Given the description of an element on the screen output the (x, y) to click on. 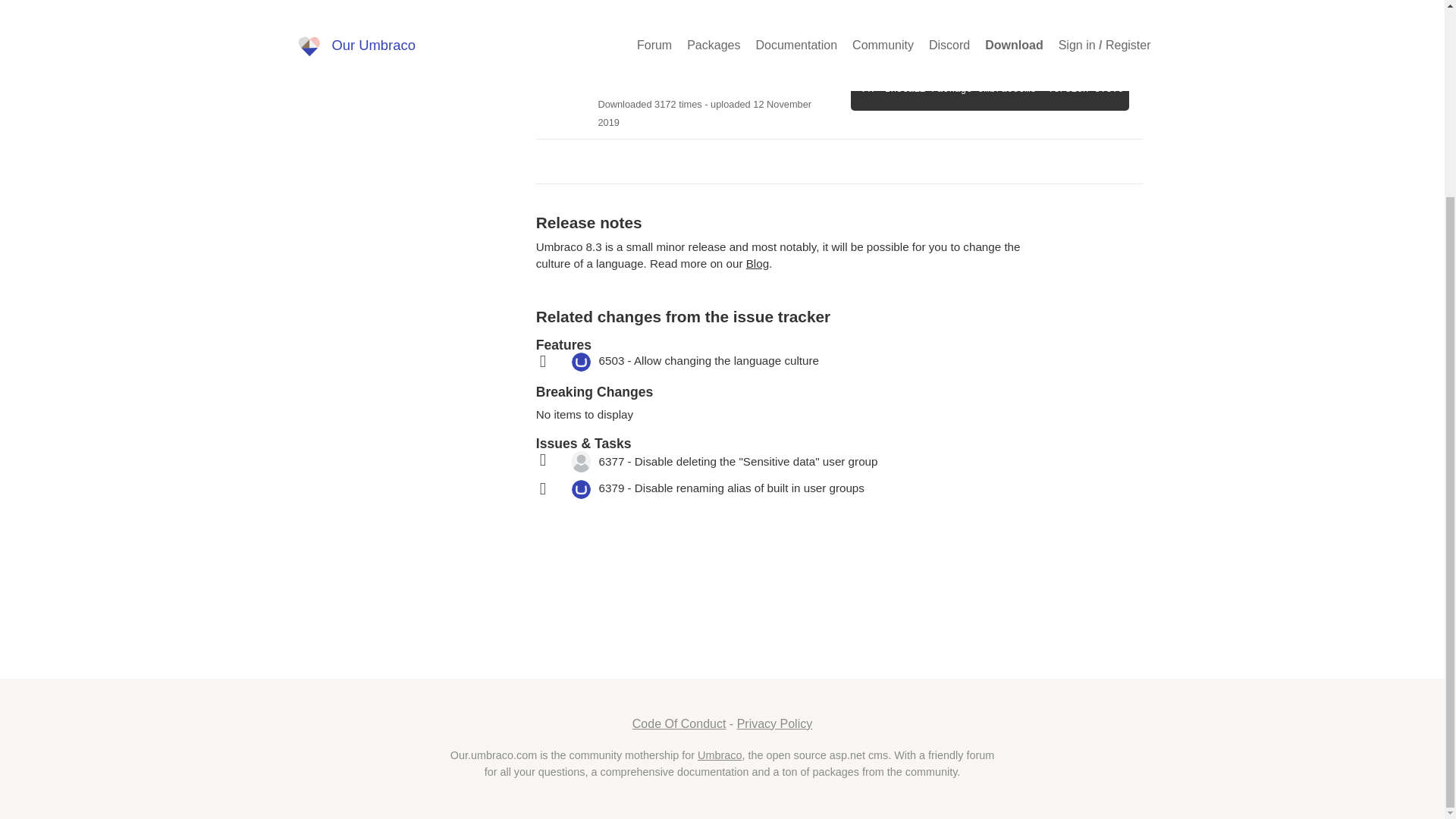
fixed (815, 461)
fixed (815, 362)
Code Of Conduct (678, 723)
Install-Package UmbracoCms -Version 8.3.0 (989, 88)
Umbraco (719, 755)
fixed (815, 489)
6503 - Allow changing the language culture (708, 359)
Blog (756, 263)
6379 - Disable renaming alias of built in user groups (731, 487)
UmbracoCms.8.3.0.zip (667, 48)
